Given the description of an element on the screen output the (x, y) to click on. 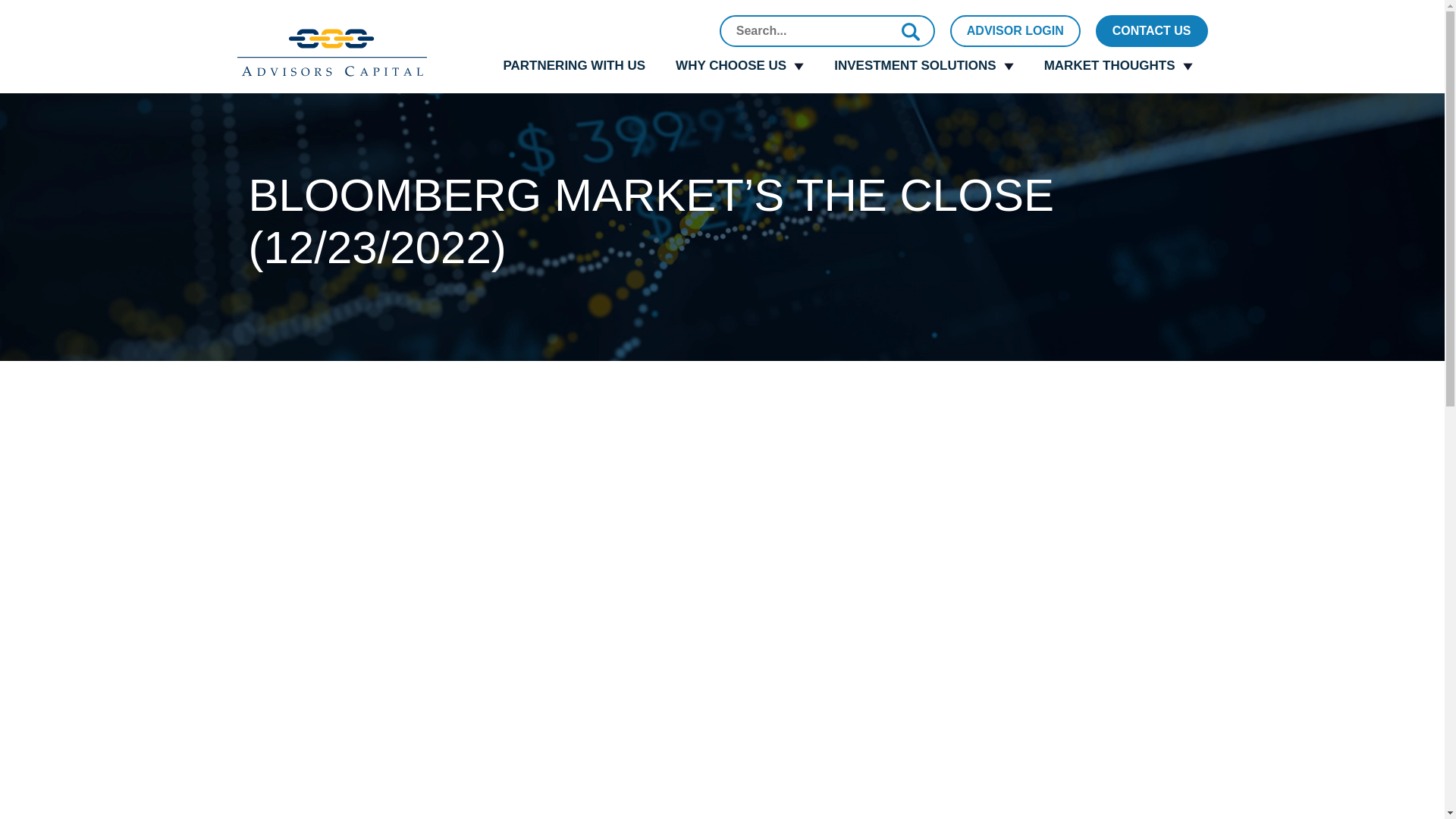
ADVISOR LOGIN (1015, 30)
WHY CHOOSE US (739, 65)
CONTACT US (1152, 30)
Advisors Capital (330, 52)
MARKET THOUGHTS (1118, 65)
INVESTMENT SOLUTIONS (922, 65)
PARTNERING WITH US (574, 65)
